Given the description of an element on the screen output the (x, y) to click on. 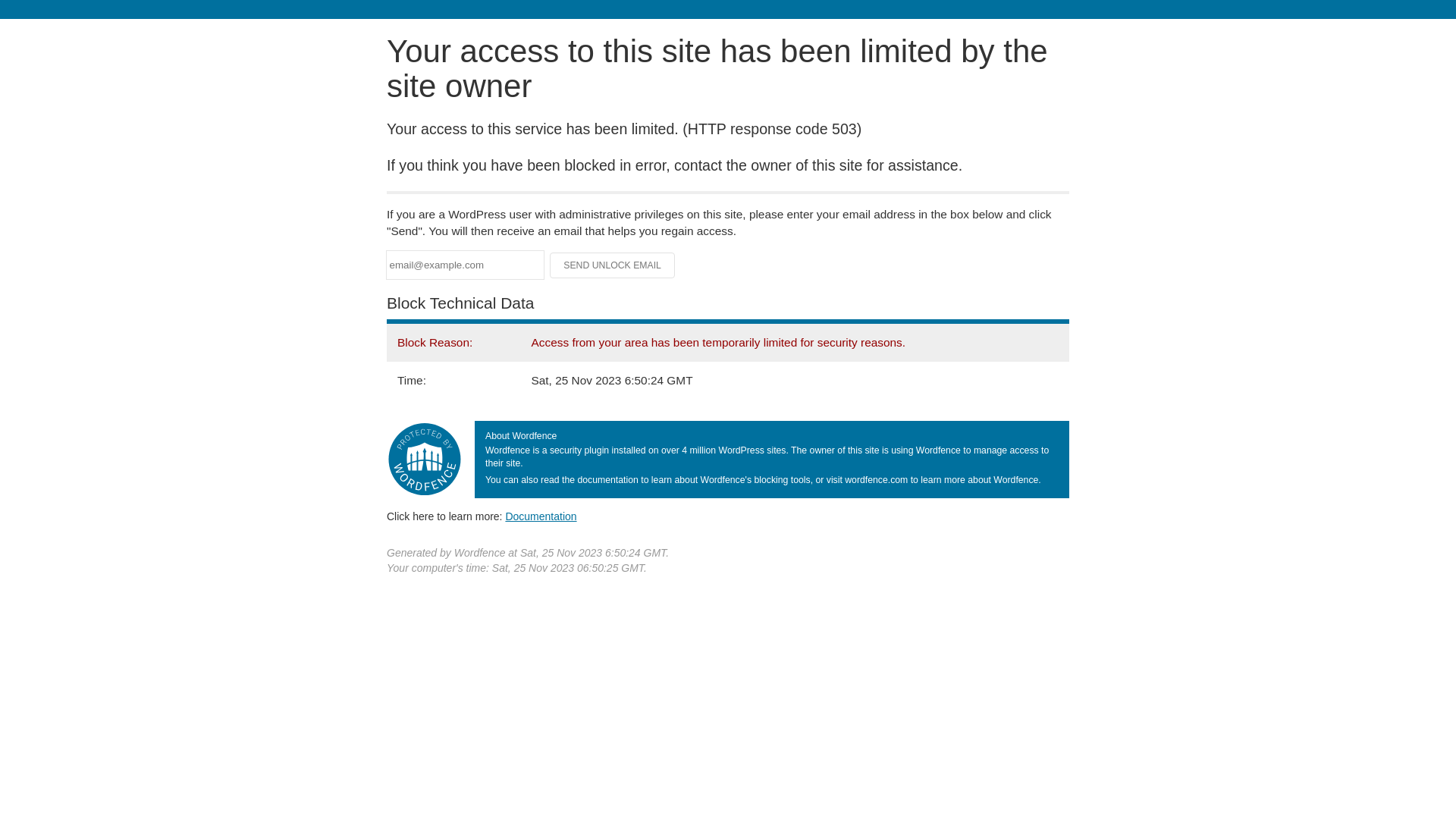
Send Unlock Email Element type: text (612, 265)
Documentation Element type: text (540, 516)
